Given the description of an element on the screen output the (x, y) to click on. 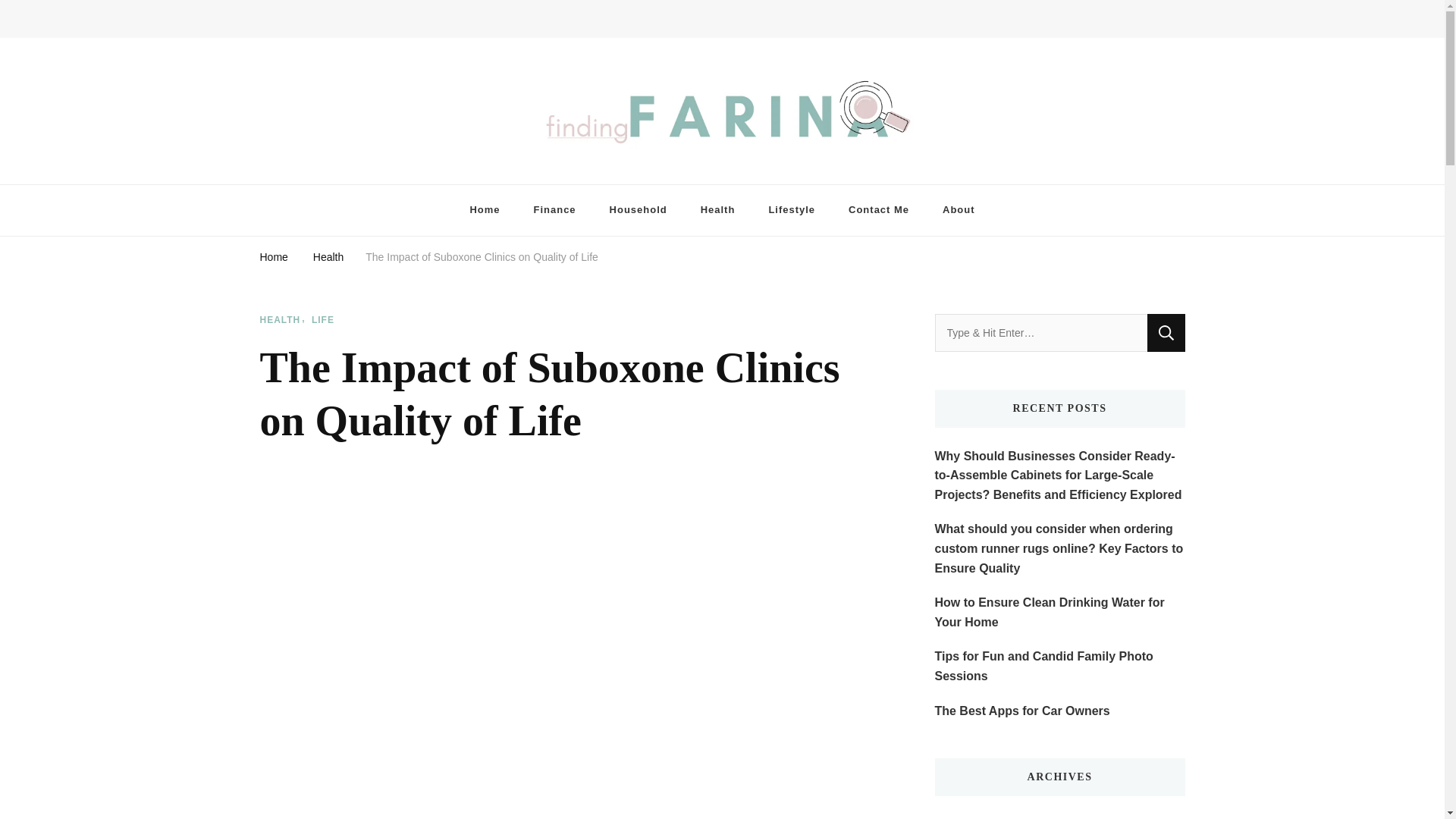
Tips for Fun and Candid Family Photo Sessions (1059, 666)
About (958, 210)
Search (1166, 332)
How to Ensure Clean Drinking Water for Your Home (1059, 611)
Contact Me (878, 210)
Search (1166, 332)
Finding Farina (332, 176)
The Best Apps for Car Owners (1021, 711)
Finance (554, 210)
Search (1148, 22)
LIFE (322, 320)
The Impact of Suboxone Clinics on Quality of Life (481, 256)
HEALTH (283, 320)
Household (638, 210)
